Given the description of an element on the screen output the (x, y) to click on. 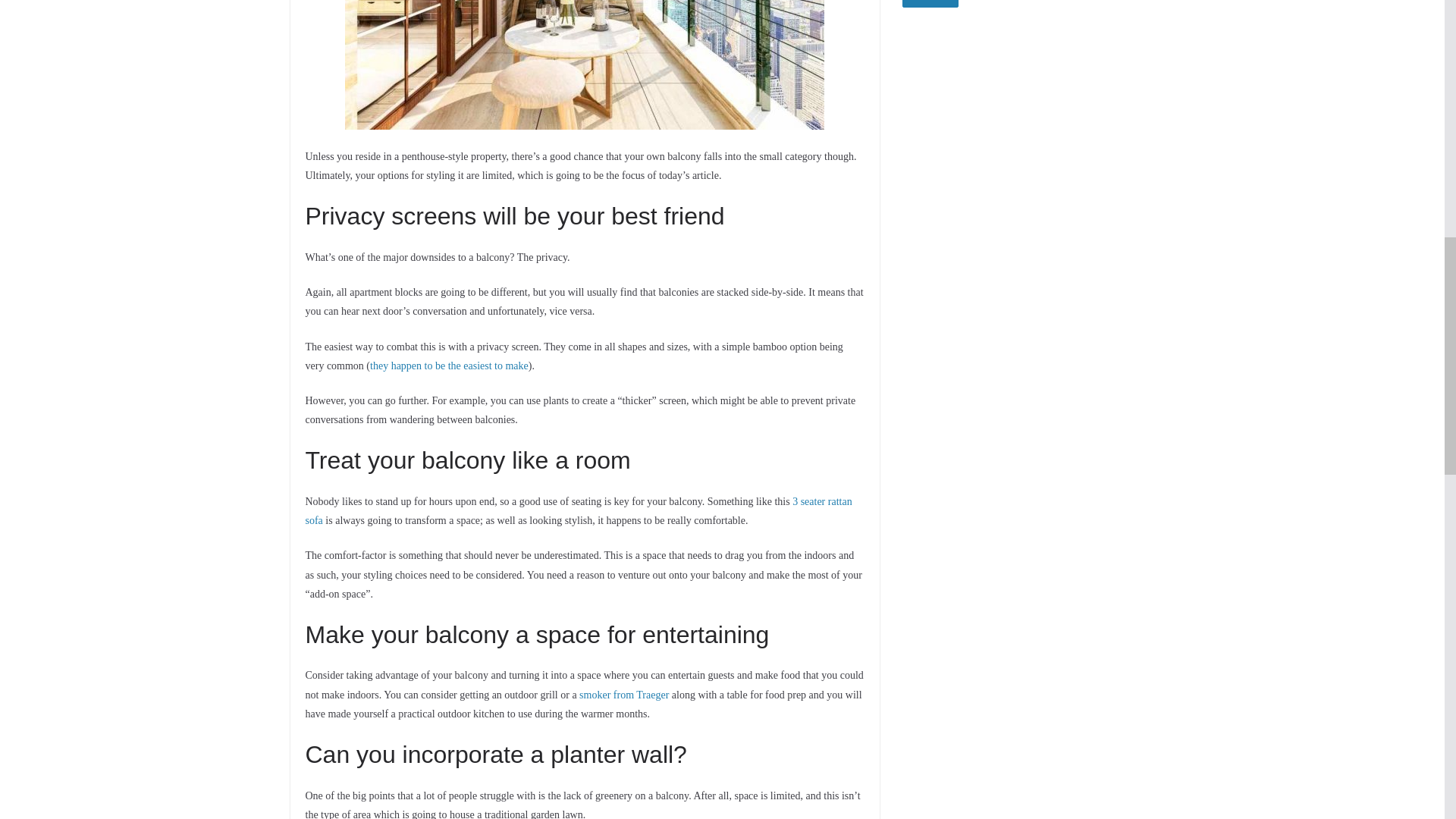
3 seater rattan sofa (577, 511)
smoker from Traeger (623, 695)
Sign up (930, 3)
they happen to be the easiest to make (448, 365)
